Given the description of an element on the screen output the (x, y) to click on. 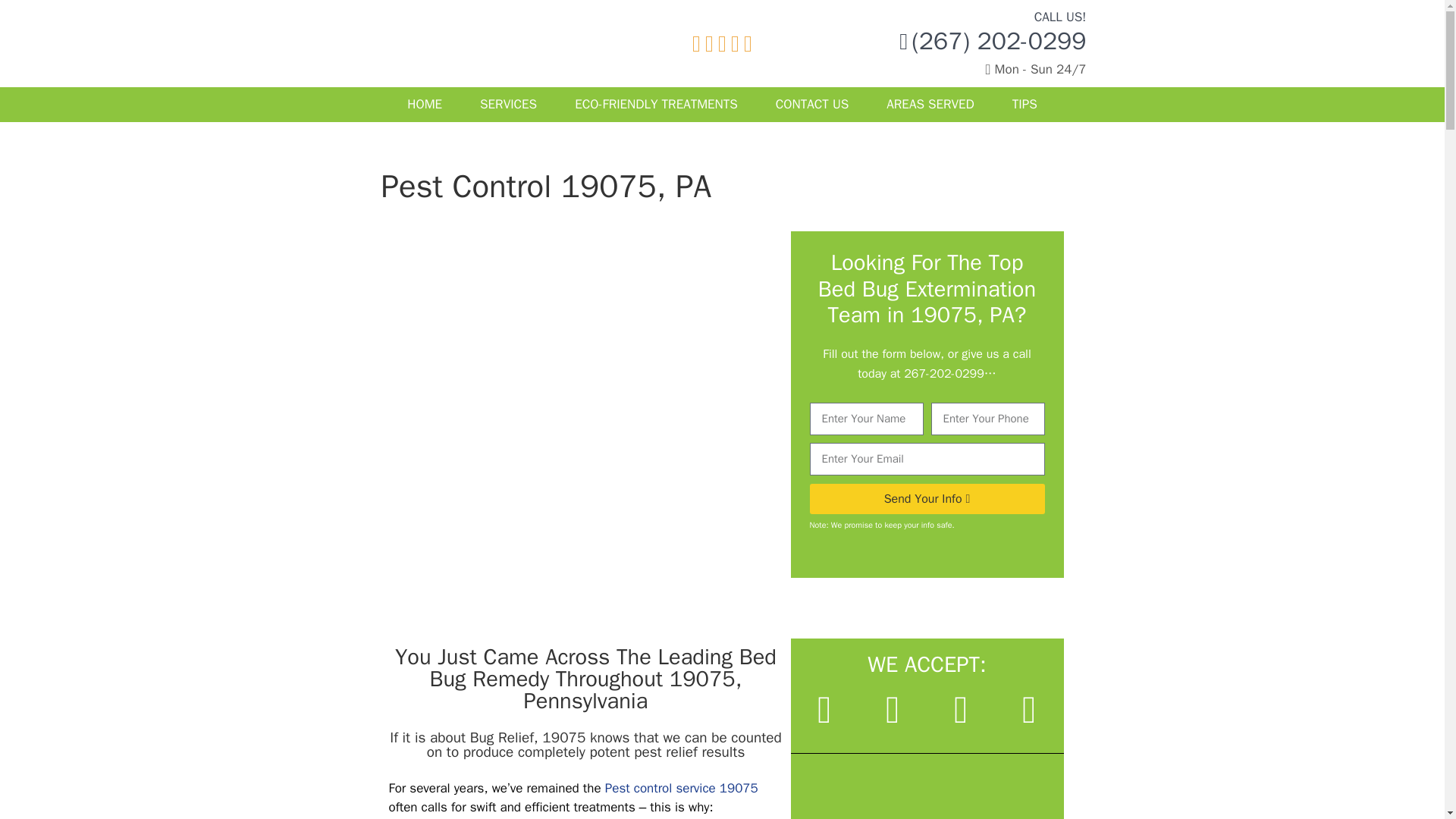
CONTACT US (812, 103)
ECO-FRIENDLY TREATMENTS (656, 103)
SERVICES (508, 103)
HOME (424, 103)
AREAS SERVED (929, 103)
